Given the description of an element on the screen output the (x, y) to click on. 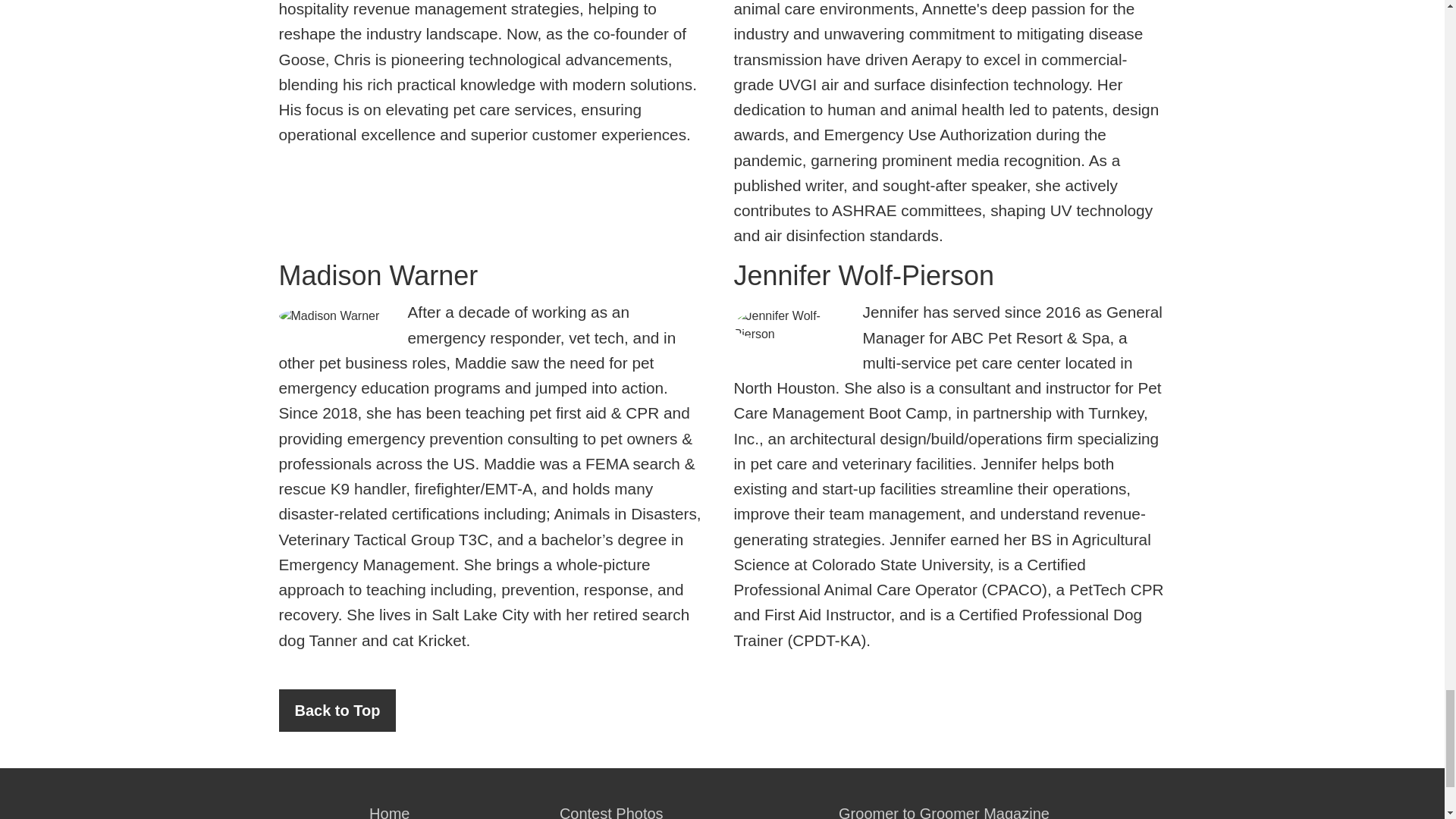
Back to Top (337, 710)
Home (389, 805)
Groomer to Groomer Magazine (944, 805)
Contest Photos (611, 805)
